Given the description of an element on the screen output the (x, y) to click on. 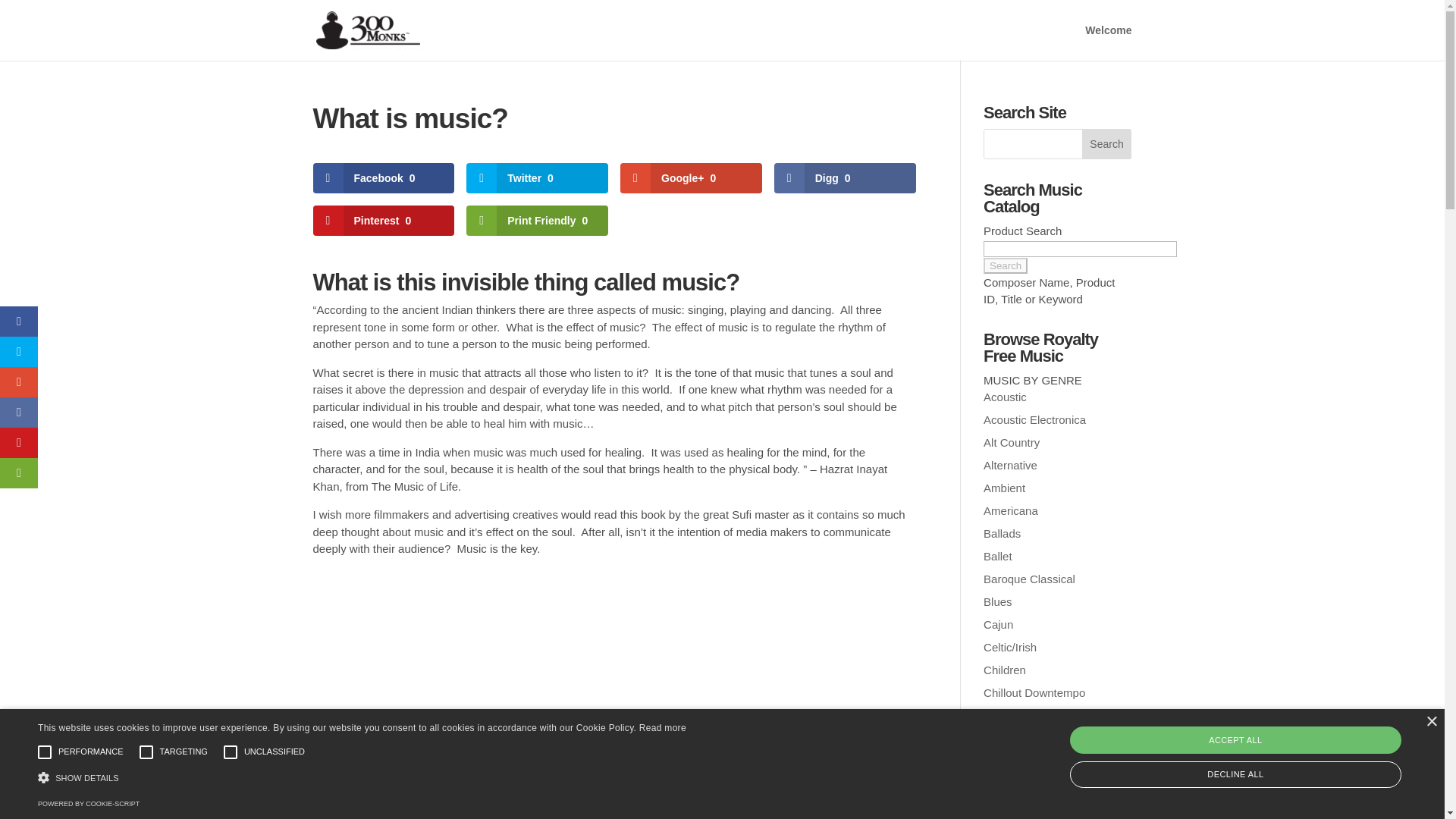
Acoustic (1005, 396)
Search (1106, 143)
Blues (997, 601)
Baroque Classical (1029, 578)
Alt Country (1011, 441)
Classical Piano (1022, 760)
Classical (1006, 738)
Acoustic Electronica (1035, 419)
Print Friendly 0 (536, 220)
Search (1106, 143)
Pinterest 0 (383, 220)
Alternative (1010, 464)
Children (1005, 669)
Facebook 0 (383, 177)
Search (1005, 265)
